Given the description of an element on the screen output the (x, y) to click on. 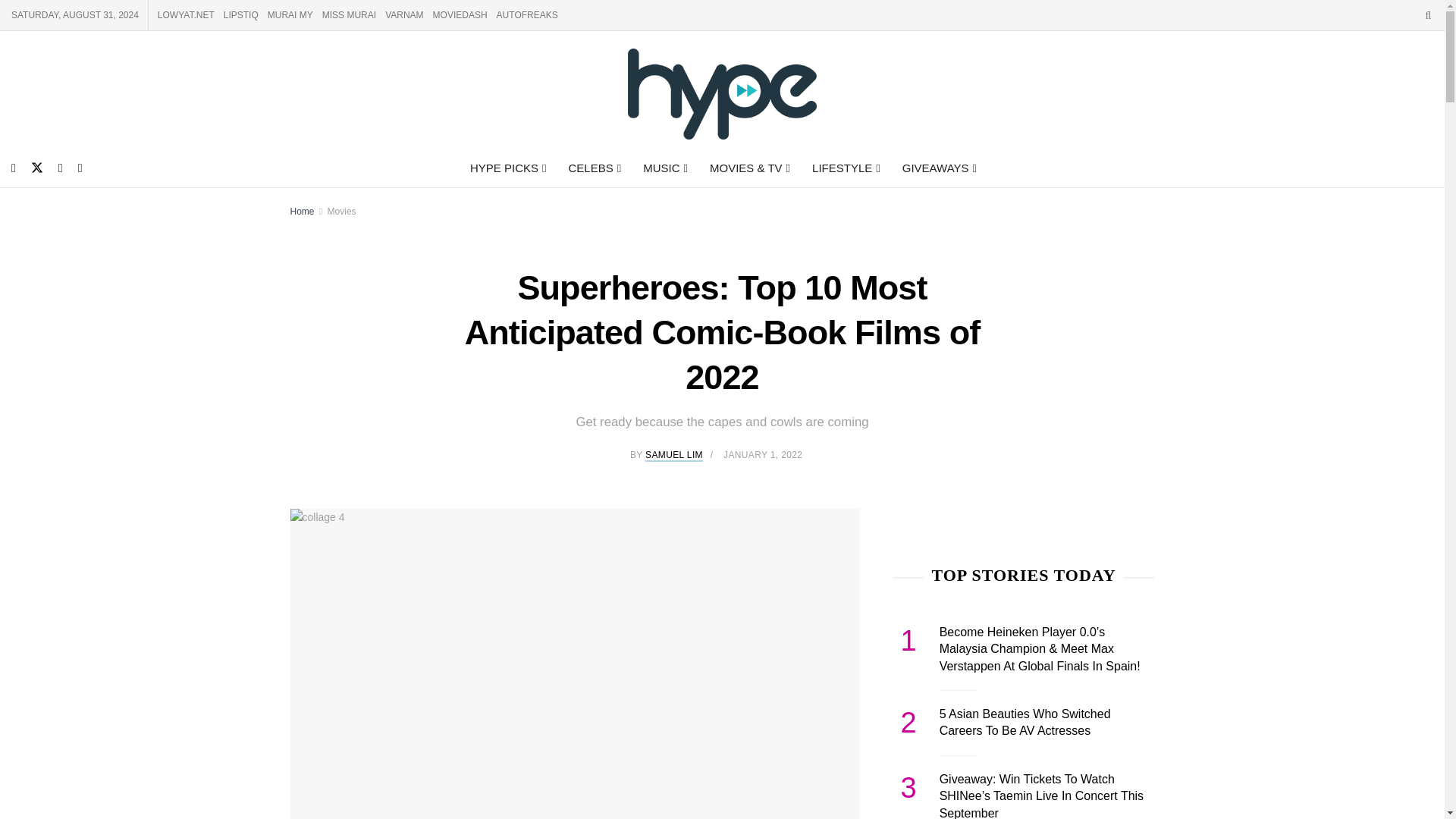
MOVIEDASH (459, 15)
CELEBS (593, 168)
HYPE PICKS (507, 168)
MISS MURAI (348, 15)
LIFESTYLE (844, 168)
MUSIC (663, 168)
GIVEAWAYS (938, 168)
LOWYAT.NET (185, 15)
MURAI MY (290, 15)
VARNAM (404, 15)
